Given the description of an element on the screen output the (x, y) to click on. 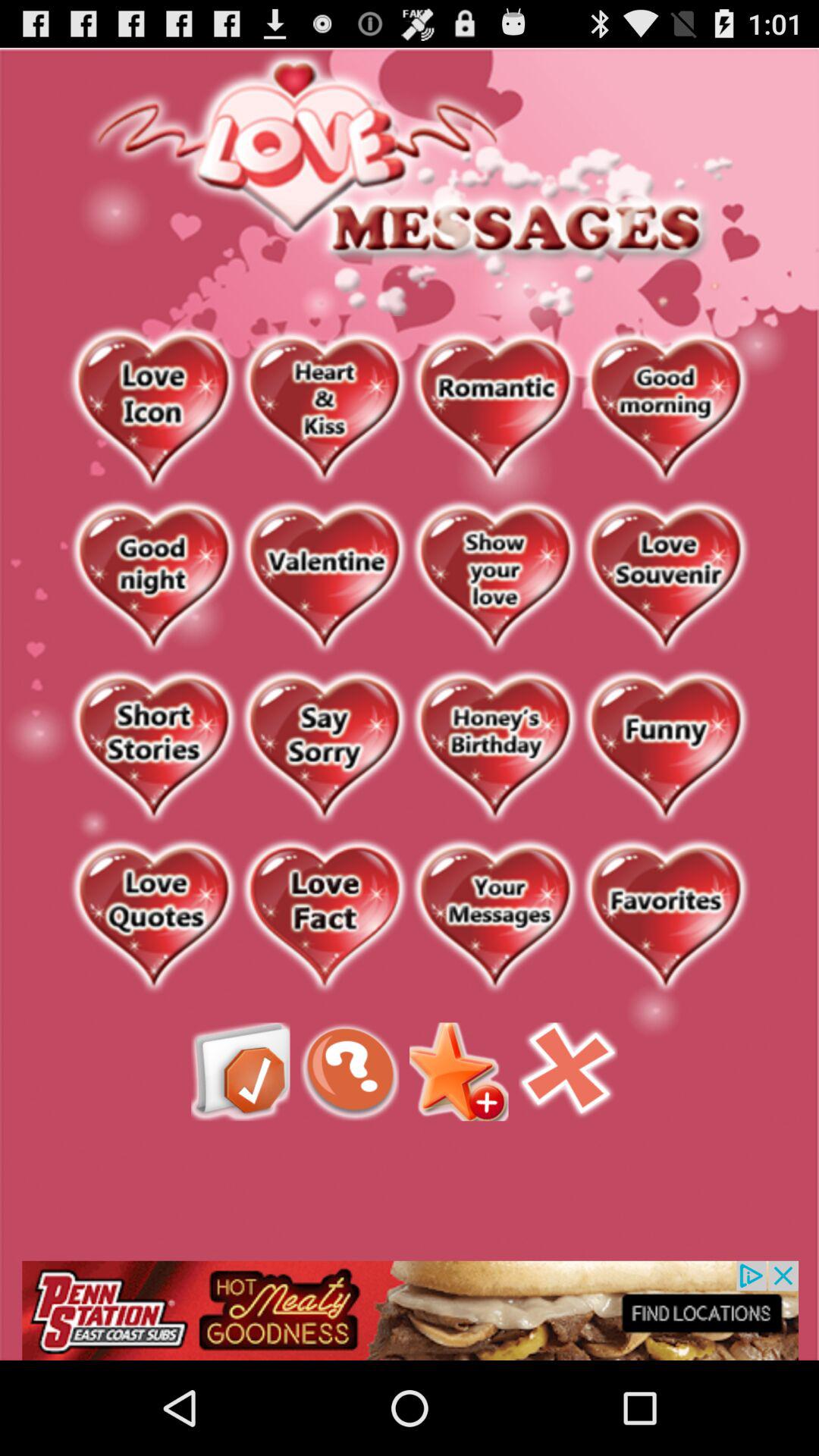
romantic messages (494, 408)
